Given the description of an element on the screen output the (x, y) to click on. 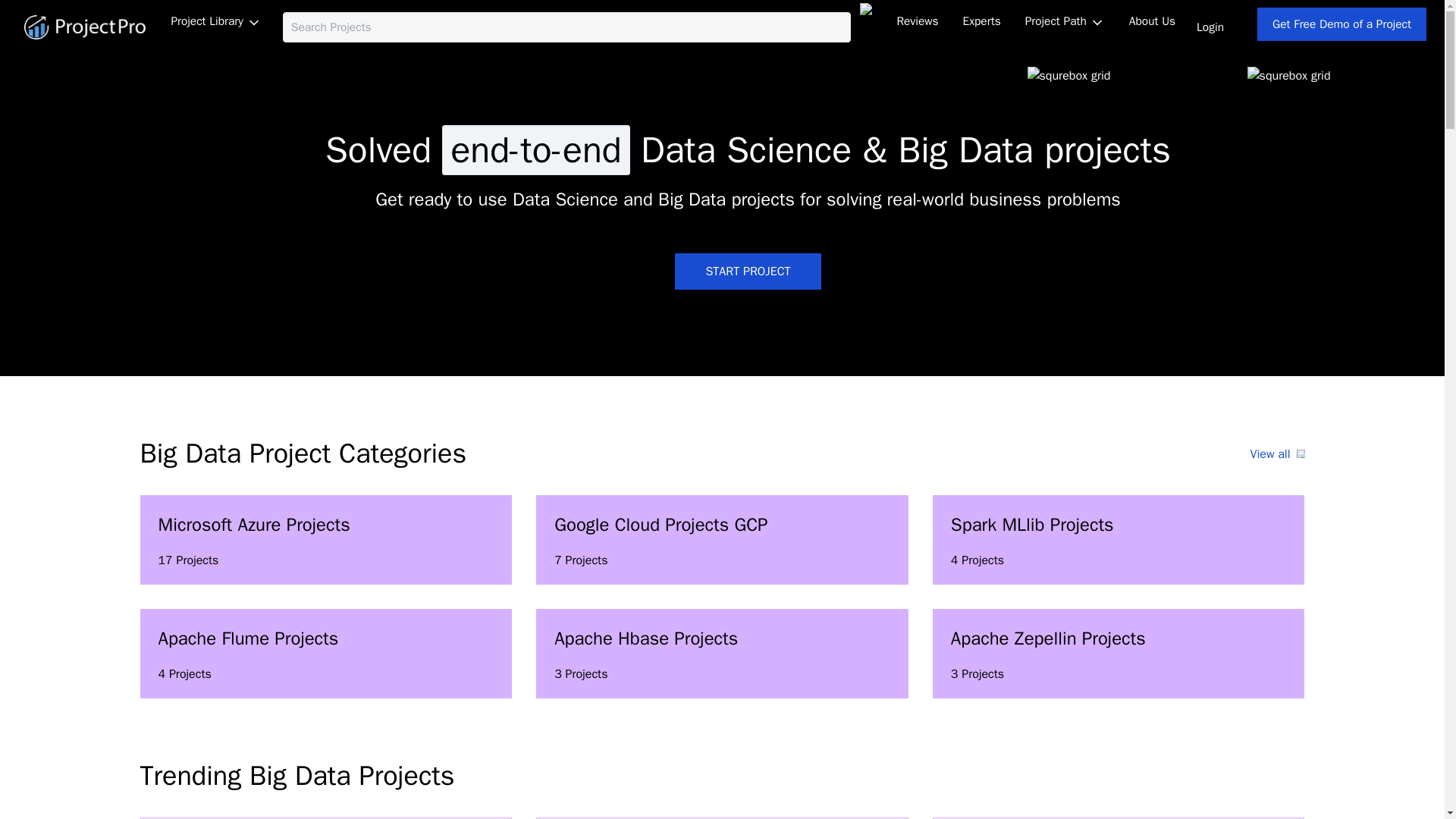
Login (1210, 27)
projectpro logo (1118, 539)
View all (721, 539)
Get Free Demo of a Project (79, 27)
About Us (1276, 453)
Projects (1341, 23)
Customer Reviews (1118, 653)
Industry Experts (1152, 21)
Experts (215, 22)
About us (325, 539)
